Given the description of an element on the screen output the (x, y) to click on. 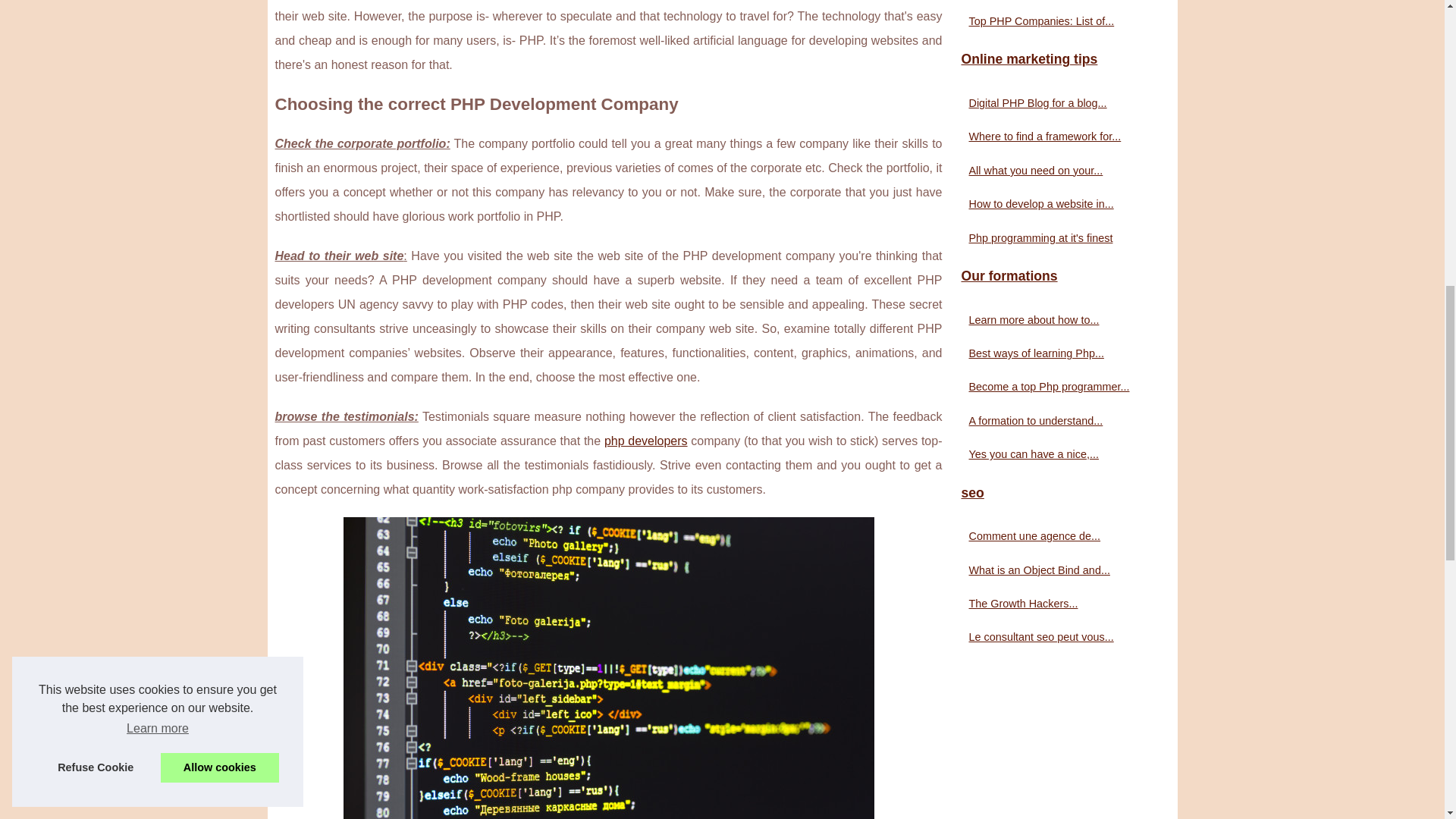
Where to find a framework for... (1055, 136)
Our formations (1062, 276)
Learn more about how to... (1055, 320)
How to develop a website in... (1055, 203)
Online marketing tips (1062, 59)
Php programming at it's finest (1055, 238)
Digital PHP Blog for a blog... (1055, 103)
Top PHP Companies: List of... (1055, 21)
All what you need on your... (1055, 170)
php developers (645, 440)
